Given the description of an element on the screen output the (x, y) to click on. 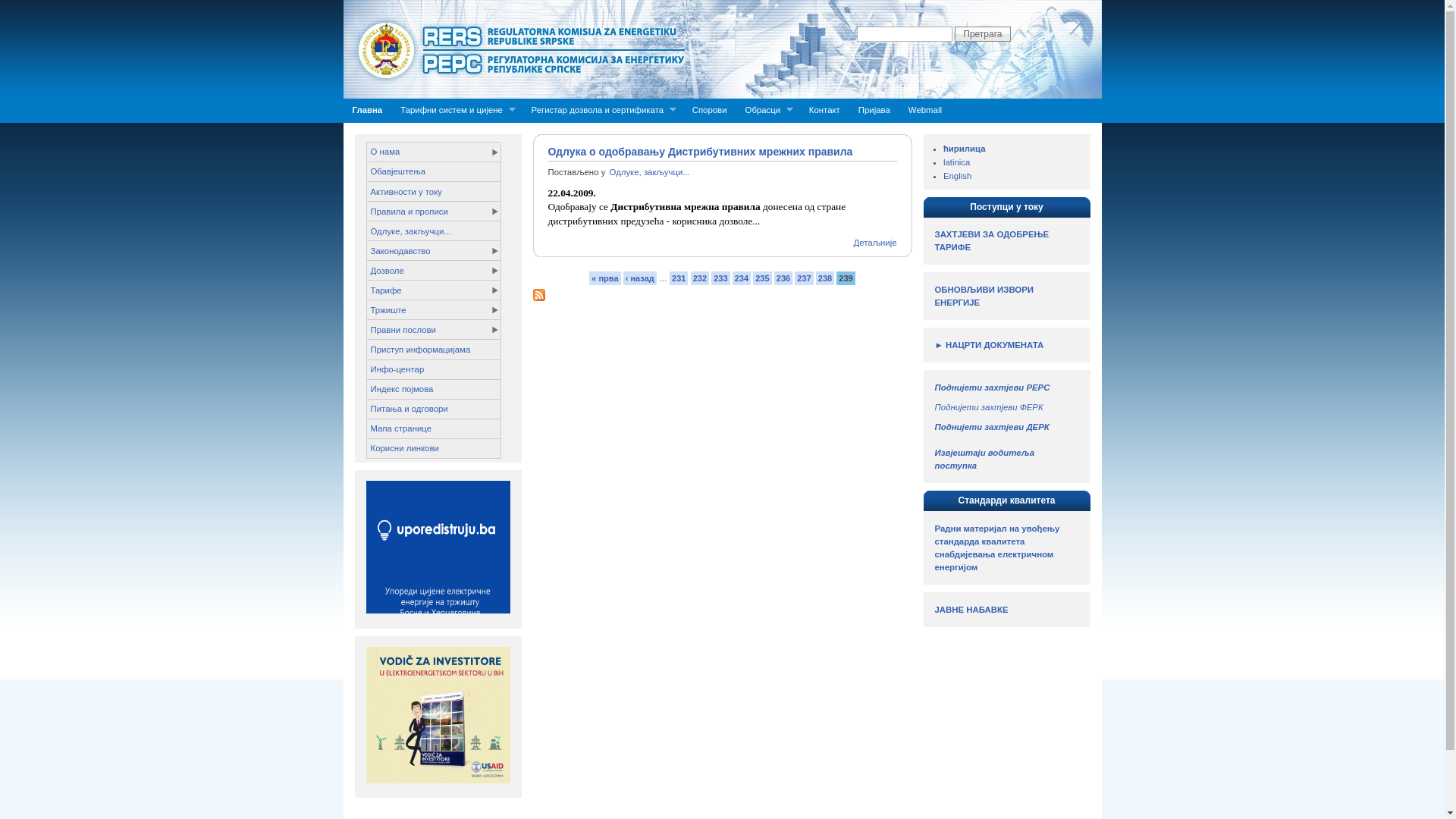
latinica Element type: text (956, 161)
Webmail Element type: text (924, 110)
237 Element type: text (803, 278)
234 Element type: text (741, 278)
238 Element type: text (824, 278)
English Element type: text (957, 175)
235 Element type: text (762, 278)
231 Element type: text (678, 278)
233 Element type: text (720, 278)
232 Element type: text (699, 278)
236 Element type: text (783, 278)
